Given the description of an element on the screen output the (x, y) to click on. 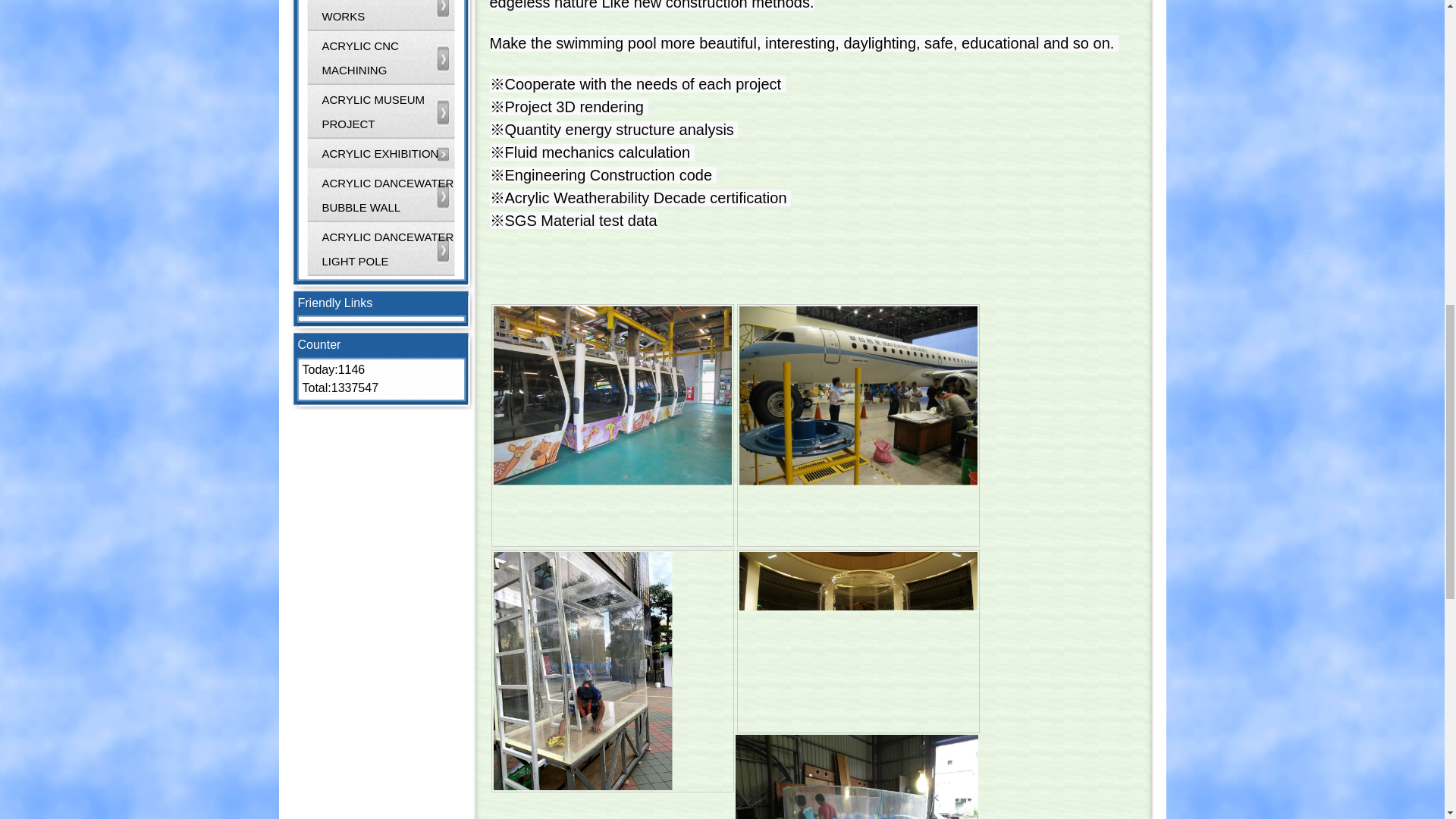
ACRYLIC MUSEUM PROJECT (380, 112)
ACRYLIC CNC MACHINING (380, 58)
ACRYLIC PUBLIC WORKS (380, 15)
ACRYLIC DANCEWATER BUBBLE WALL (380, 195)
ACRYLIC EXHIBITION (380, 153)
ACRYLIC DANCEWATER LIGHT POLE (380, 248)
